Given the description of an element on the screen output the (x, y) to click on. 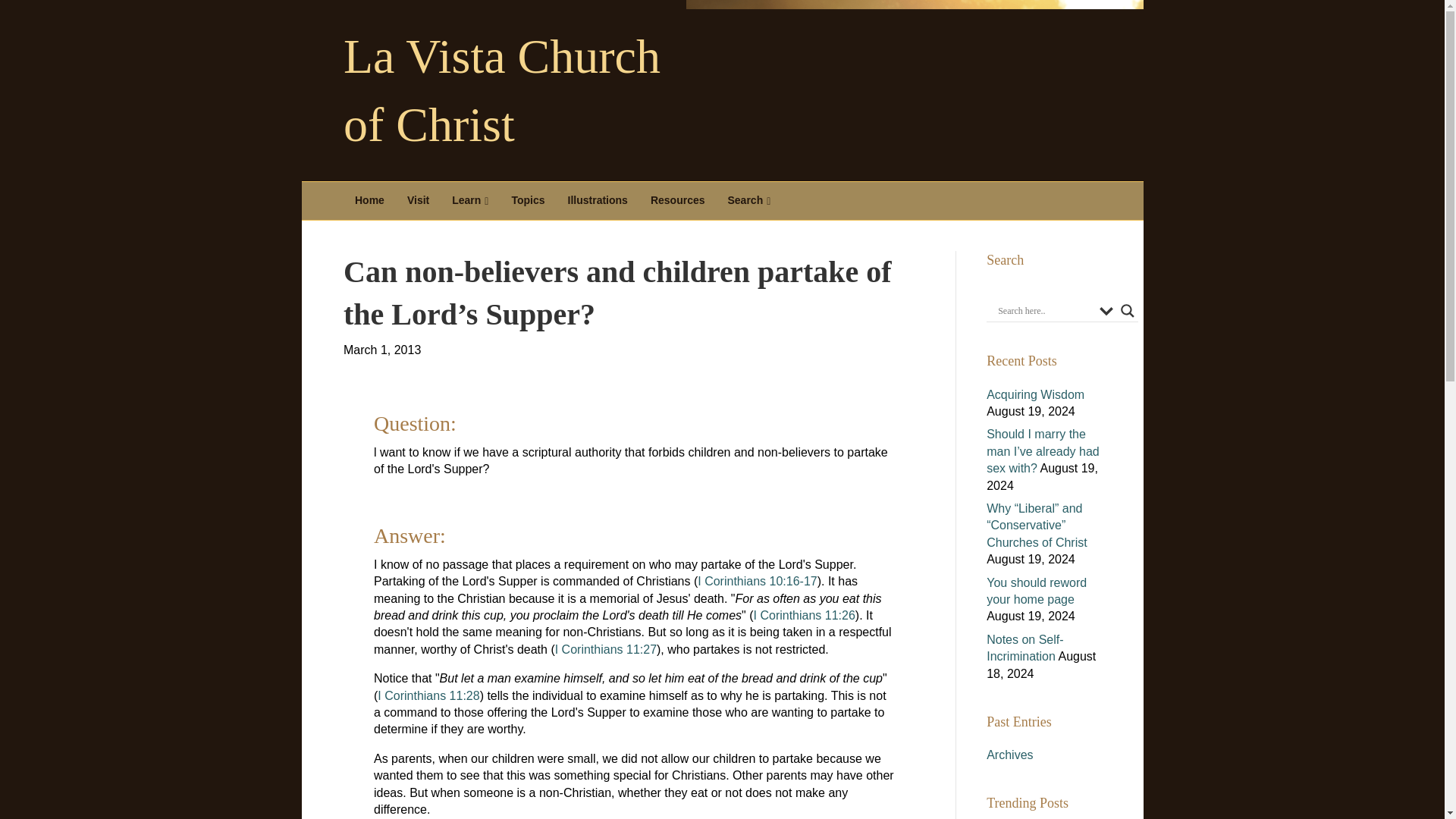
Illustrations (597, 200)
Learn (470, 200)
Resources (677, 200)
Visit (418, 200)
La Vista Church of Christ (521, 90)
Topics (527, 200)
I Corinthians 11:27 (605, 649)
Search (748, 200)
I Corinthians 11:26 (805, 615)
Home (369, 200)
